Given the description of an element on the screen output the (x, y) to click on. 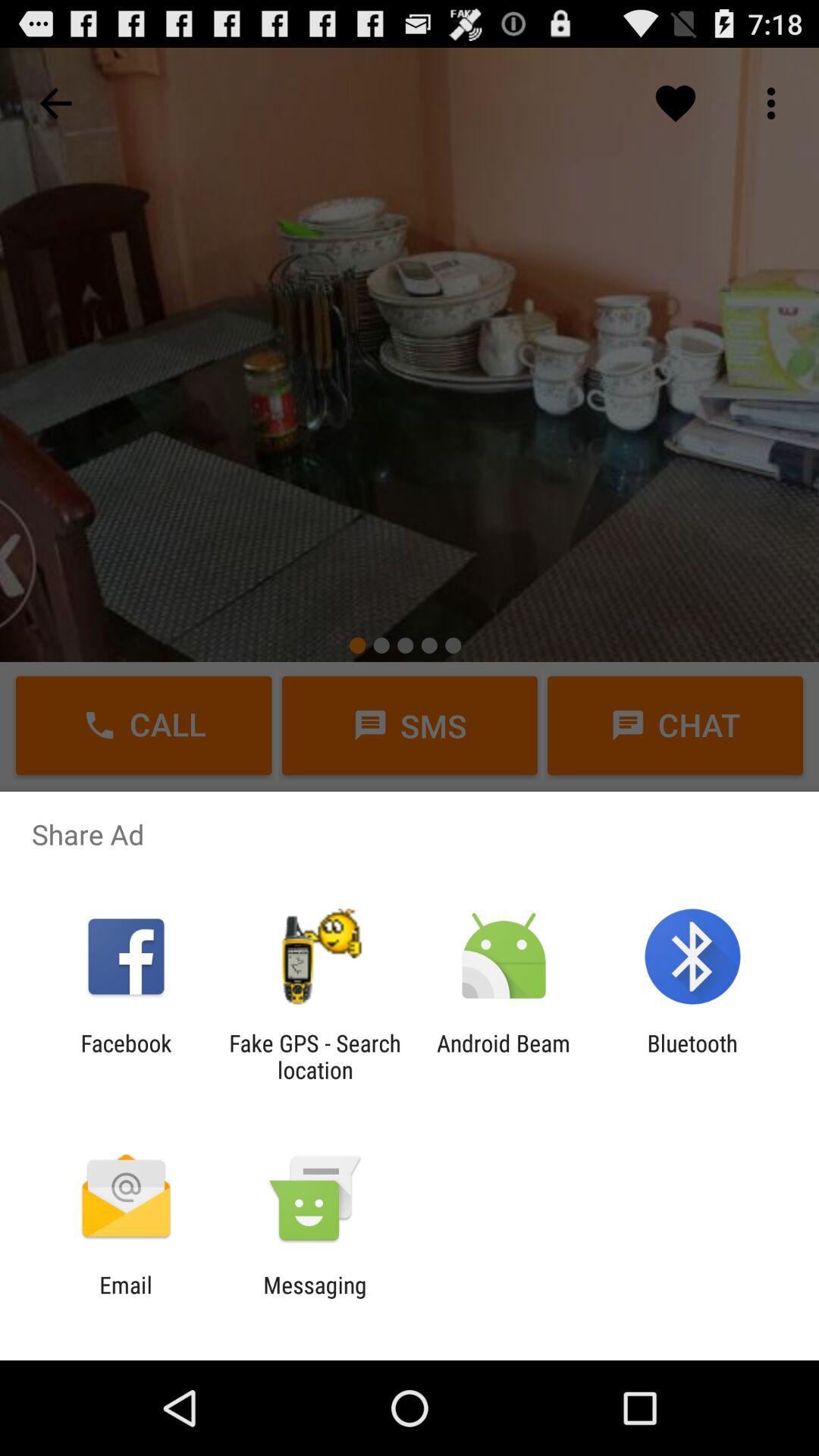
turn off the app to the right of facebook app (314, 1056)
